Given the description of an element on the screen output the (x, y) to click on. 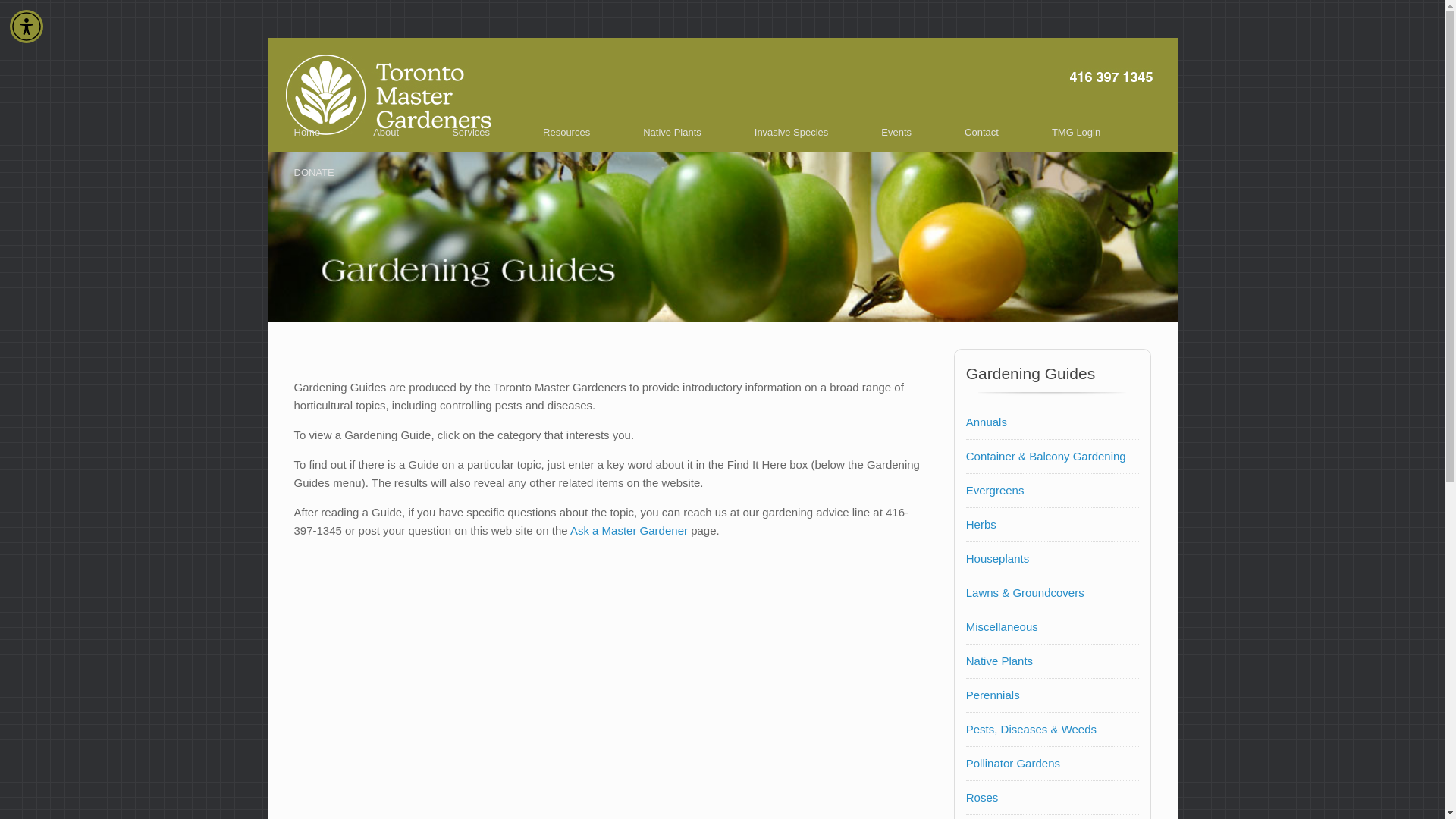
TMG Login (1075, 132)
About (385, 132)
Resources (565, 132)
Roses (982, 797)
Native Plants (671, 132)
DONATE (312, 171)
Houseplants (997, 558)
Pollinator Gardens (1012, 762)
Events (895, 132)
Services (470, 132)
Accessibility Menu (26, 26)
Miscellaneous (1002, 626)
Herbs (980, 523)
Evergreens (995, 490)
Perennials (993, 694)
